Given the description of an element on the screen output the (x, y) to click on. 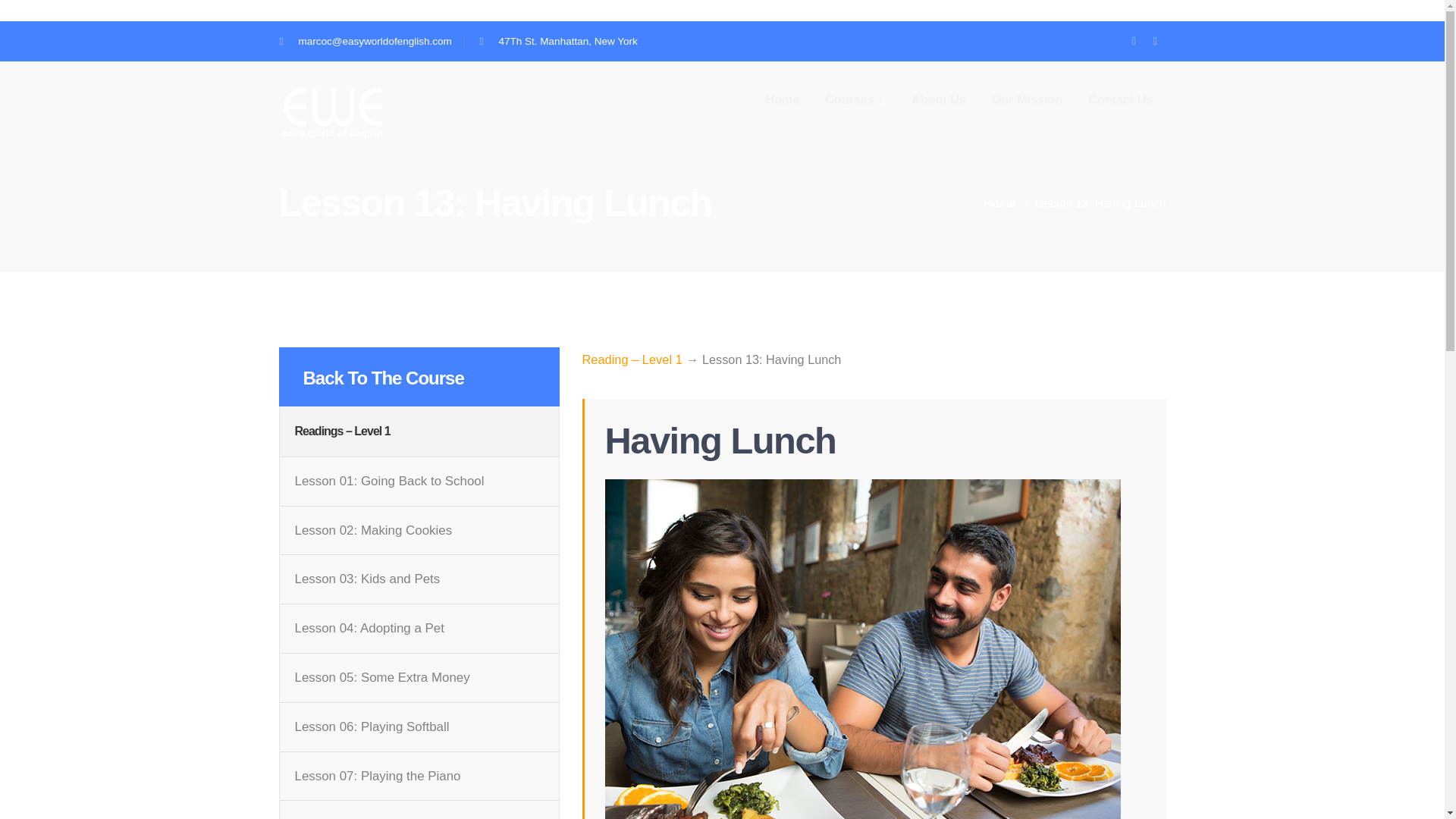
Our Mission (1026, 99)
Lesson 07: Playing the Piano (377, 776)
Lesson 06: Playing Softball (371, 727)
Lesson 01: Going Back to School (388, 481)
Lesson 08: Playing Soccer (369, 815)
Lesson 03: Kids and Pets (366, 579)
Lesson 04: Adopting a Pet (369, 628)
Facebook Profile (1134, 40)
Back To The Course (383, 377)
Facebook (1134, 40)
EWE - Easy World Of English (333, 111)
Lesson 05: Some Extra Money (381, 678)
Instagram (1155, 40)
Lesson 02: Making Cookies (372, 530)
Home (1009, 203)
